Given the description of an element on the screen output the (x, y) to click on. 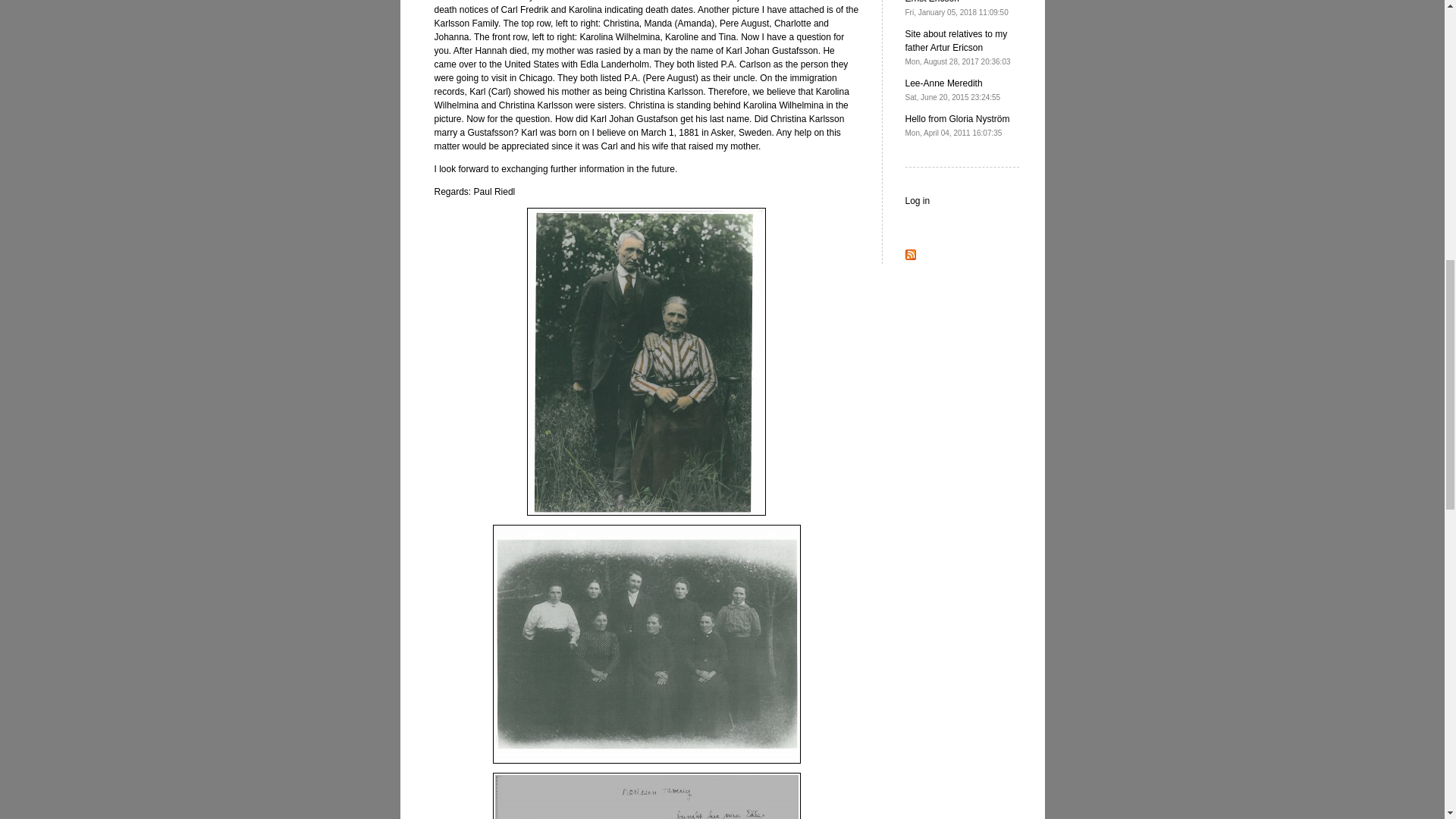
RSS 2.0 (953, 89)
Log in (910, 256)
